Given the description of an element on the screen output the (x, y) to click on. 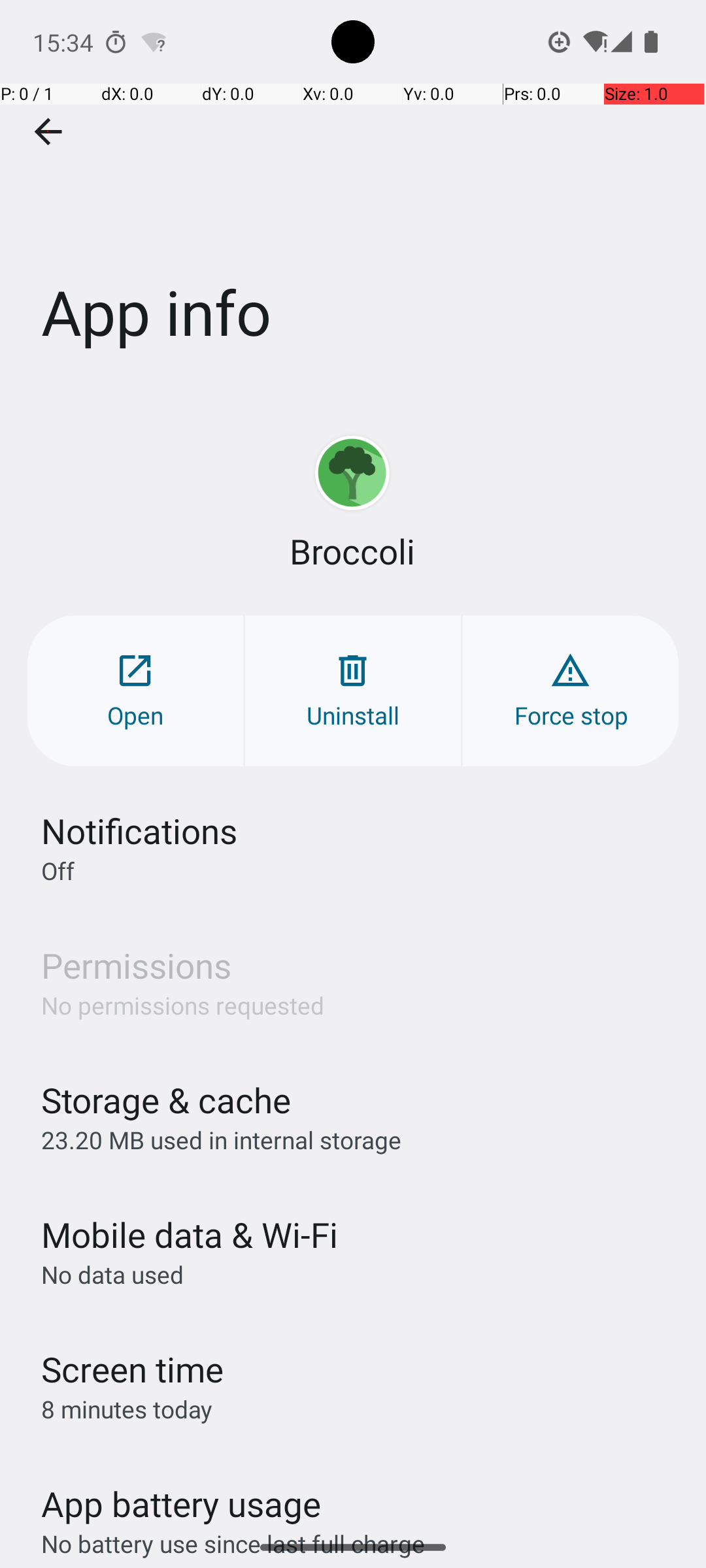
No permissions requested Element type: android.widget.TextView (182, 1004)
23.20 MB used in internal storage Element type: android.widget.TextView (221, 1139)
8 minutes today Element type: android.widget.TextView (127, 1408)
